Given the description of an element on the screen output the (x, y) to click on. 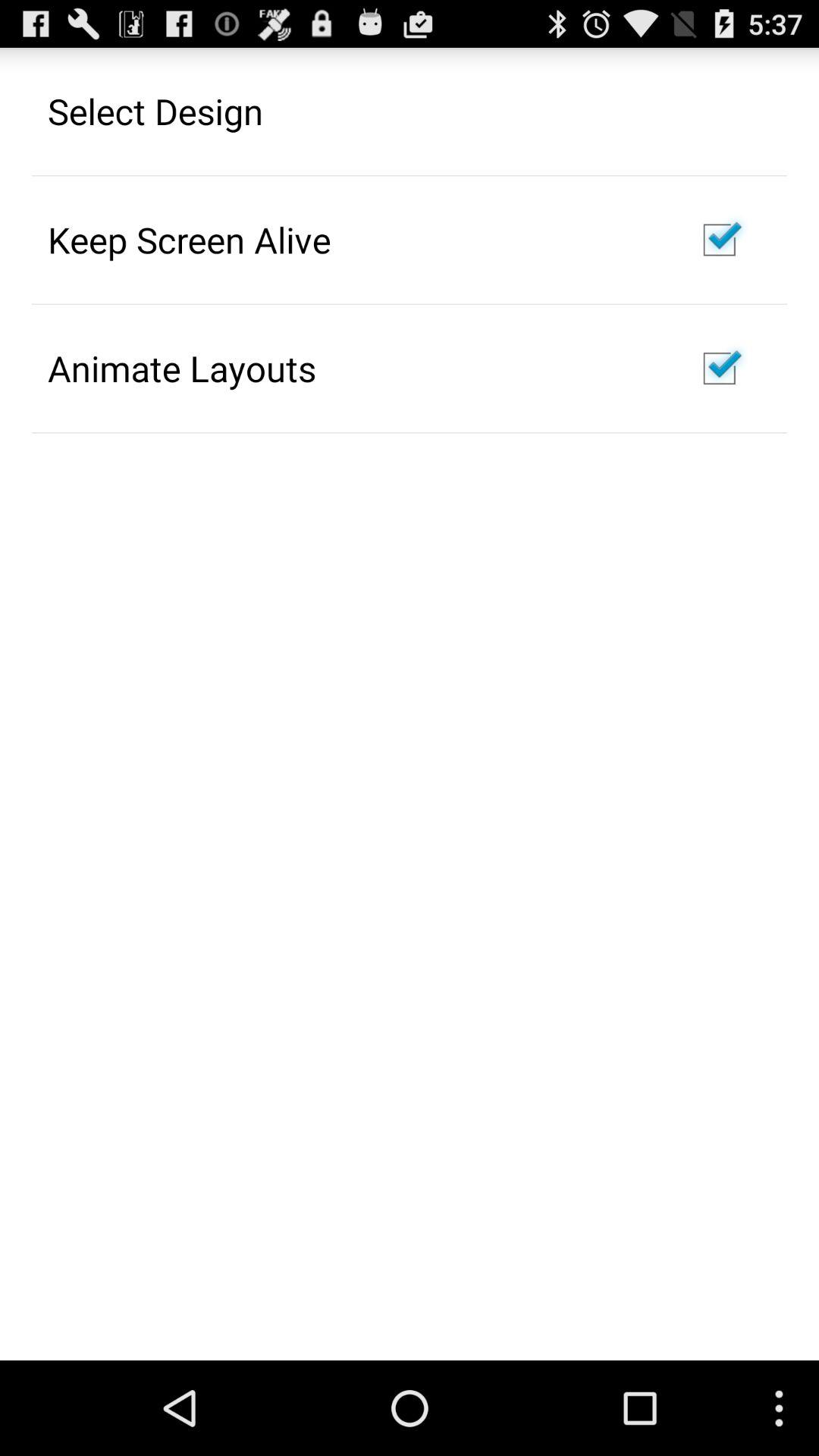
choose the app above animate layouts (189, 239)
